Given the description of an element on the screen output the (x, y) to click on. 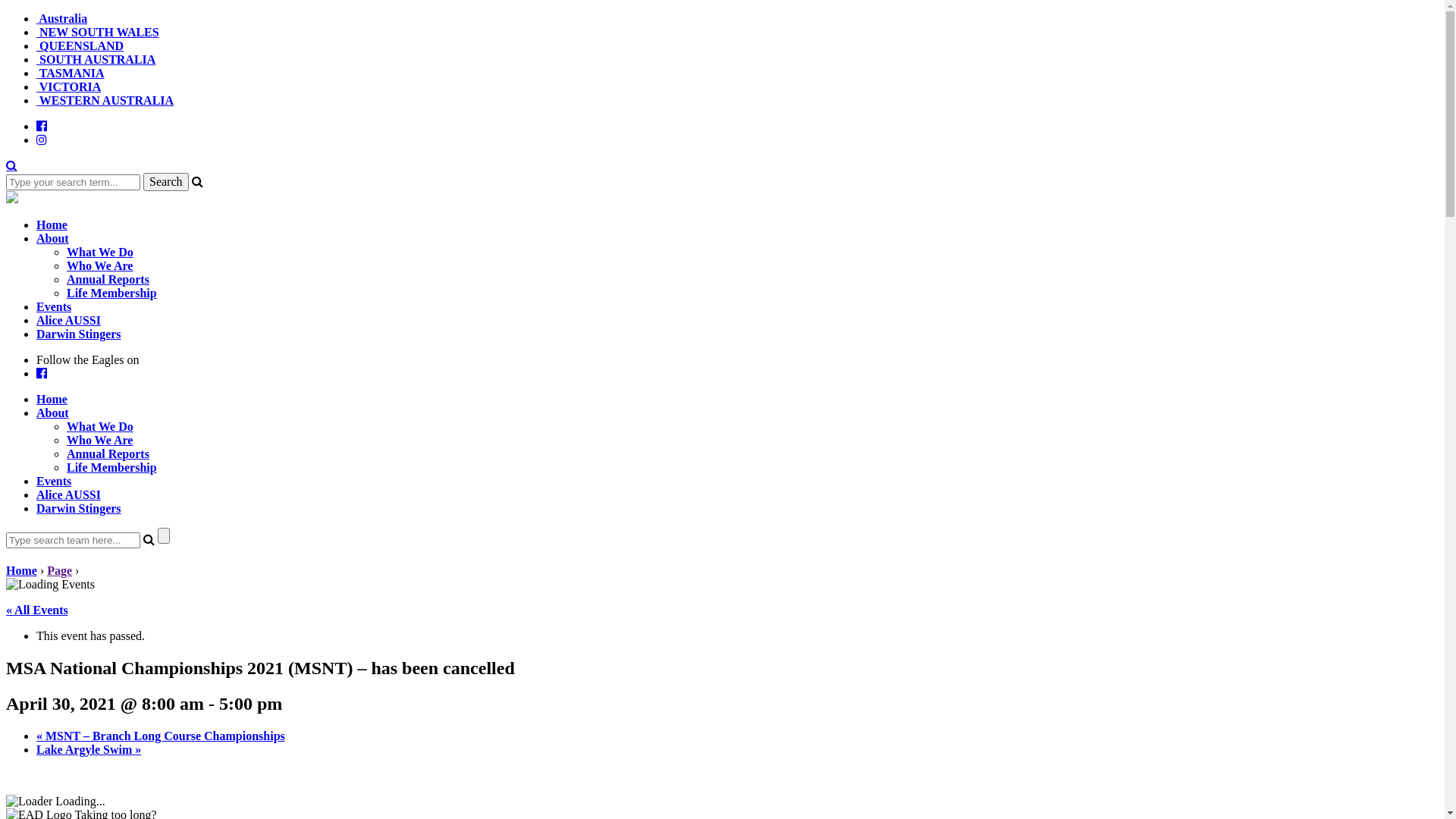
Life Membership Element type: text (111, 292)
QUEENSLAND Element type: text (79, 45)
Events Element type: text (53, 480)
Annual Reports Element type: text (107, 453)
Search Element type: text (165, 181)
Home Element type: text (51, 224)
Home Element type: text (51, 398)
Life Membership Element type: text (111, 467)
About Element type: text (52, 238)
Page Element type: text (59, 570)
About Element type: text (52, 412)
Home Element type: text (21, 570)
Who We Are Element type: text (99, 265)
WESTERN AUSTRALIA Element type: text (104, 100)
Darwin Stingers Element type: text (78, 508)
Events Element type: text (53, 306)
Alice AUSSI Element type: text (68, 319)
VICTORIA Element type: text (68, 86)
What We Do Element type: text (99, 251)
NEW SOUTH WALES Element type: text (97, 31)
Australia Element type: text (61, 18)
Darwin Stingers Element type: text (78, 333)
What We Do Element type: text (99, 426)
Annual Reports Element type: text (107, 279)
Search Element type: hover (11, 165)
Alice AUSSI Element type: text (68, 494)
SOUTH AUSTRALIA Element type: text (95, 59)
Who We Are Element type: text (99, 439)
TASMANIA Element type: text (70, 72)
